Given the description of an element on the screen output the (x, y) to click on. 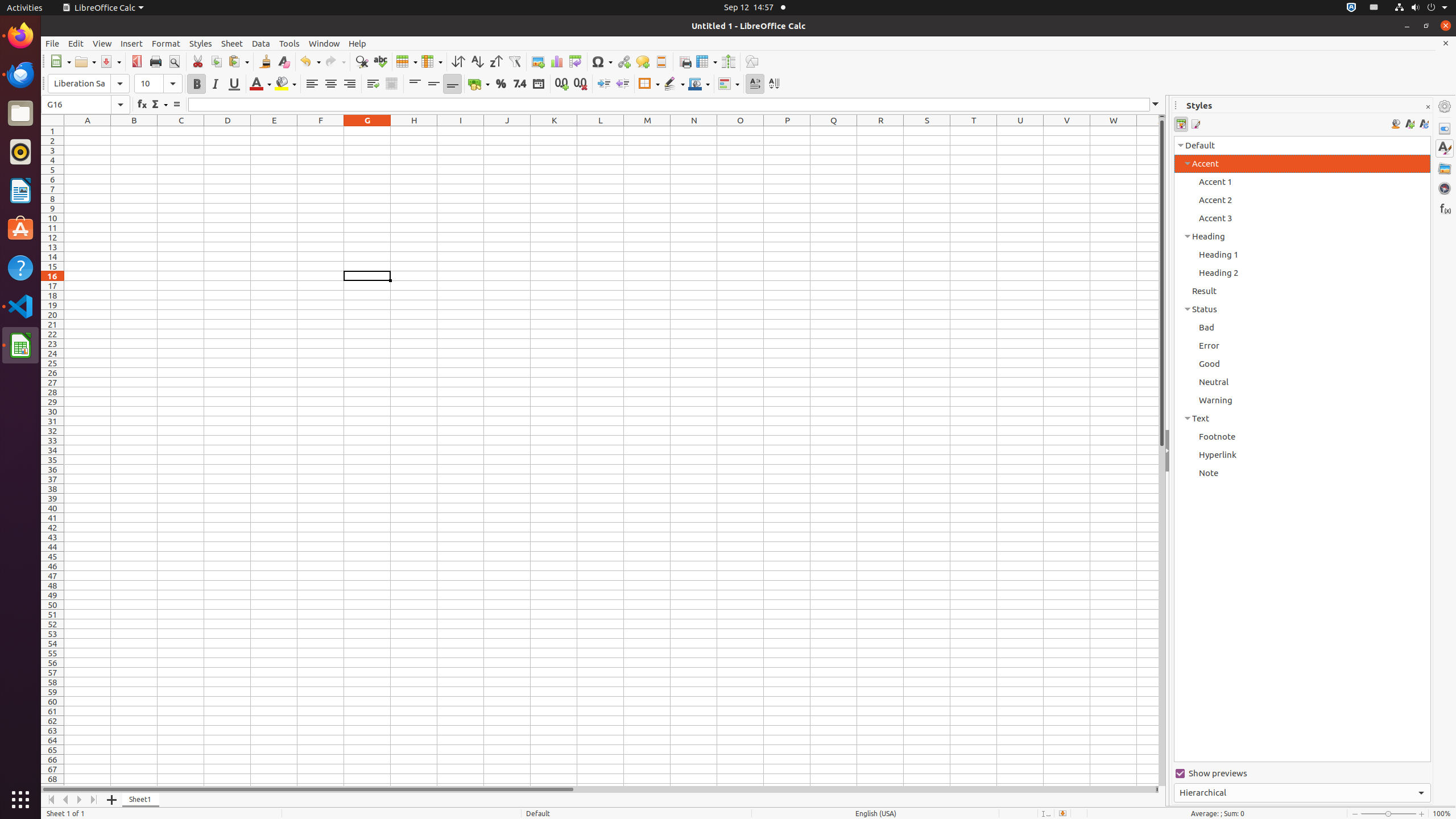
Find & Replace Element type: toggle-button (361, 61)
Headers and Footers Element type: push-button (660, 61)
Function Wizard Element type: push-button (141, 104)
Merge and Center Cells Element type: push-button (391, 83)
Edit Element type: menu (75, 43)
